Given the description of an element on the screen output the (x, y) to click on. 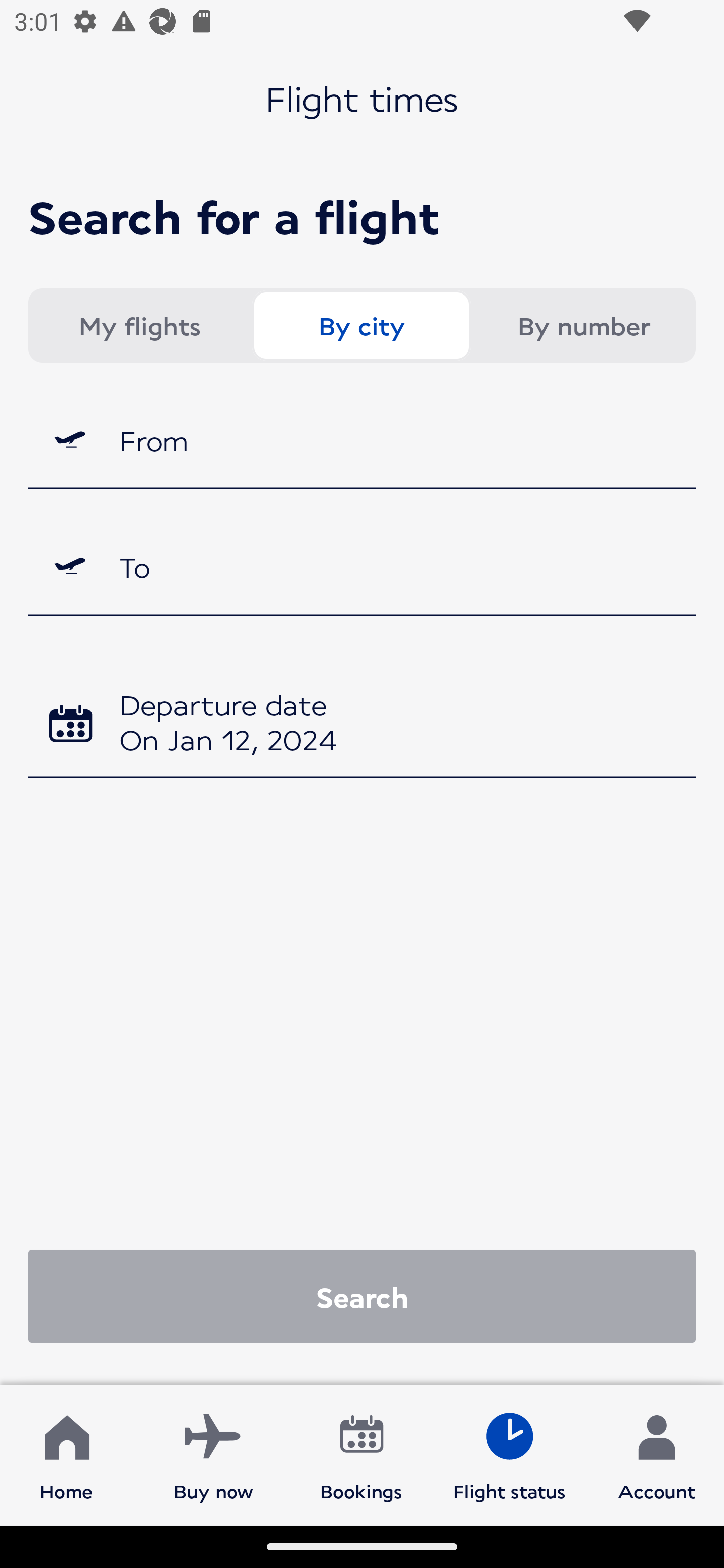
My flights (139, 325)
By city (361, 325)
By number (583, 325)
From (361, 439)
To (361, 566)
On Jan 12, 2024 Departure date (361, 724)
Search (361, 1295)
Home (66, 1454)
Buy now (213, 1454)
Bookings (361, 1454)
Account (657, 1454)
